Given the description of an element on the screen output the (x, y) to click on. 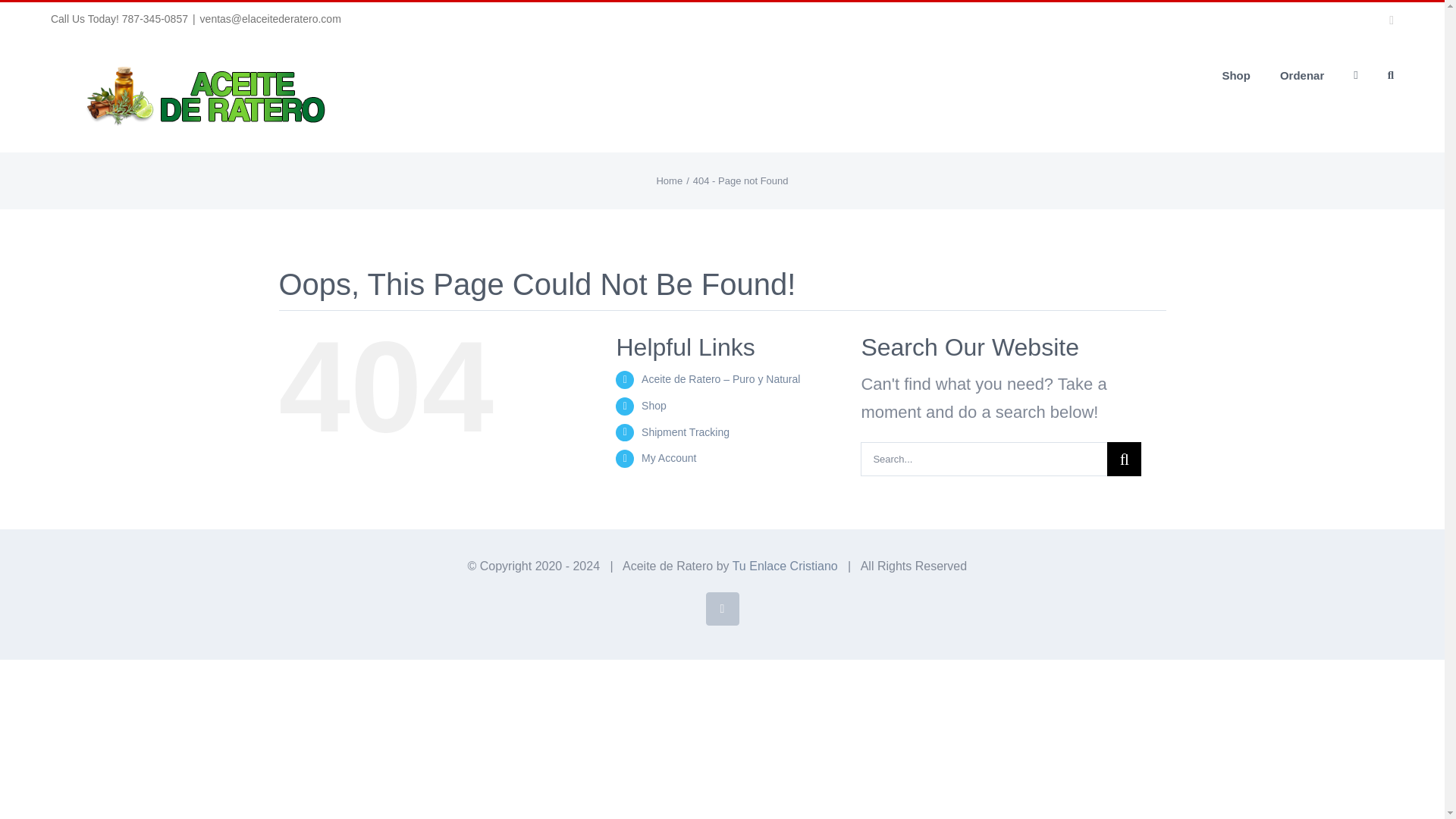
Facebook (721, 608)
Tu Enlace Cristiano (785, 565)
Home (669, 180)
Facebook (721, 608)
My Account (668, 458)
Shop (654, 405)
Shipment Tracking (685, 431)
